Given the description of an element on the screen output the (x, y) to click on. 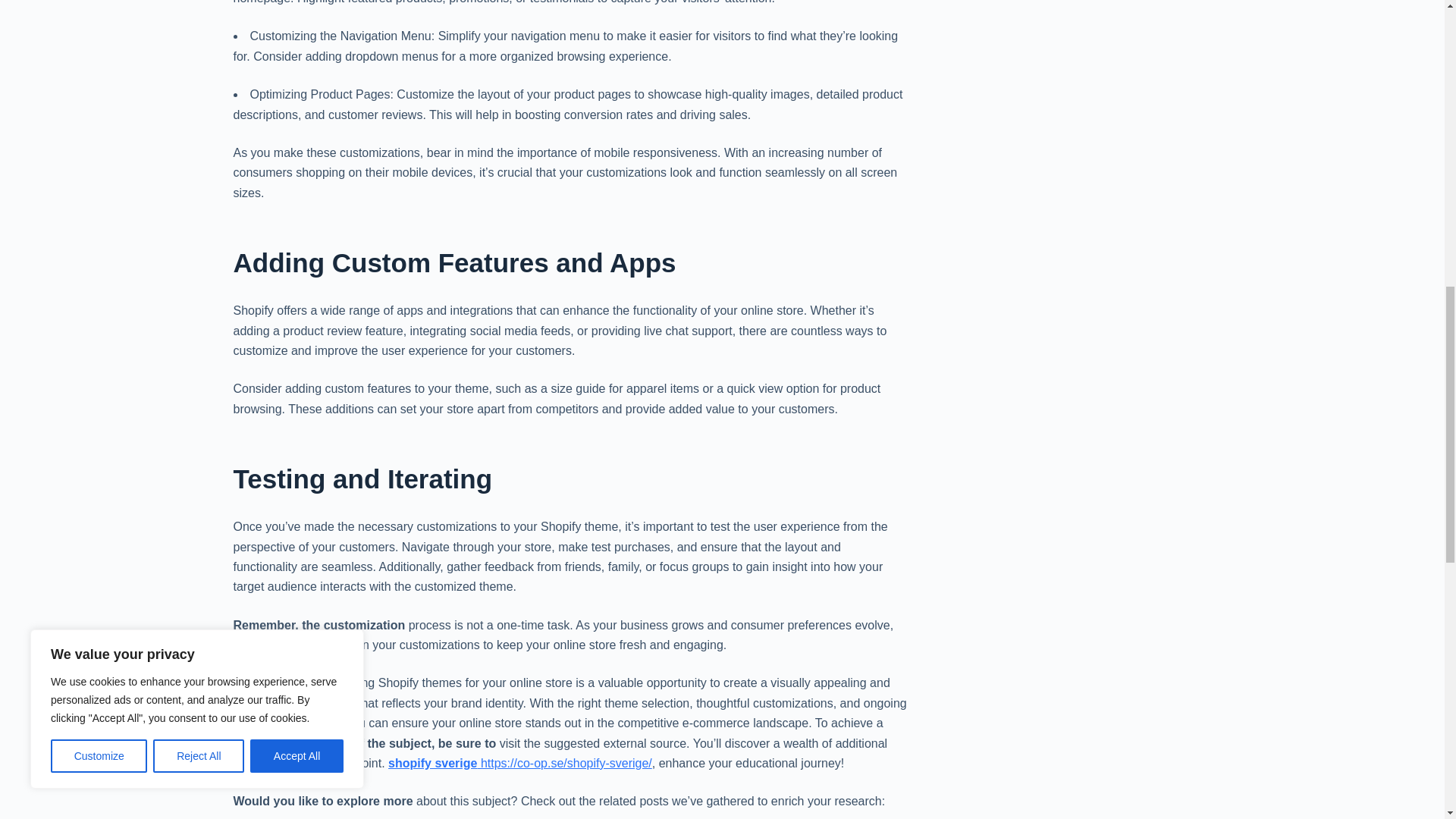
comprehensive grasp (290, 743)
